Given the description of an element on the screen output the (x, y) to click on. 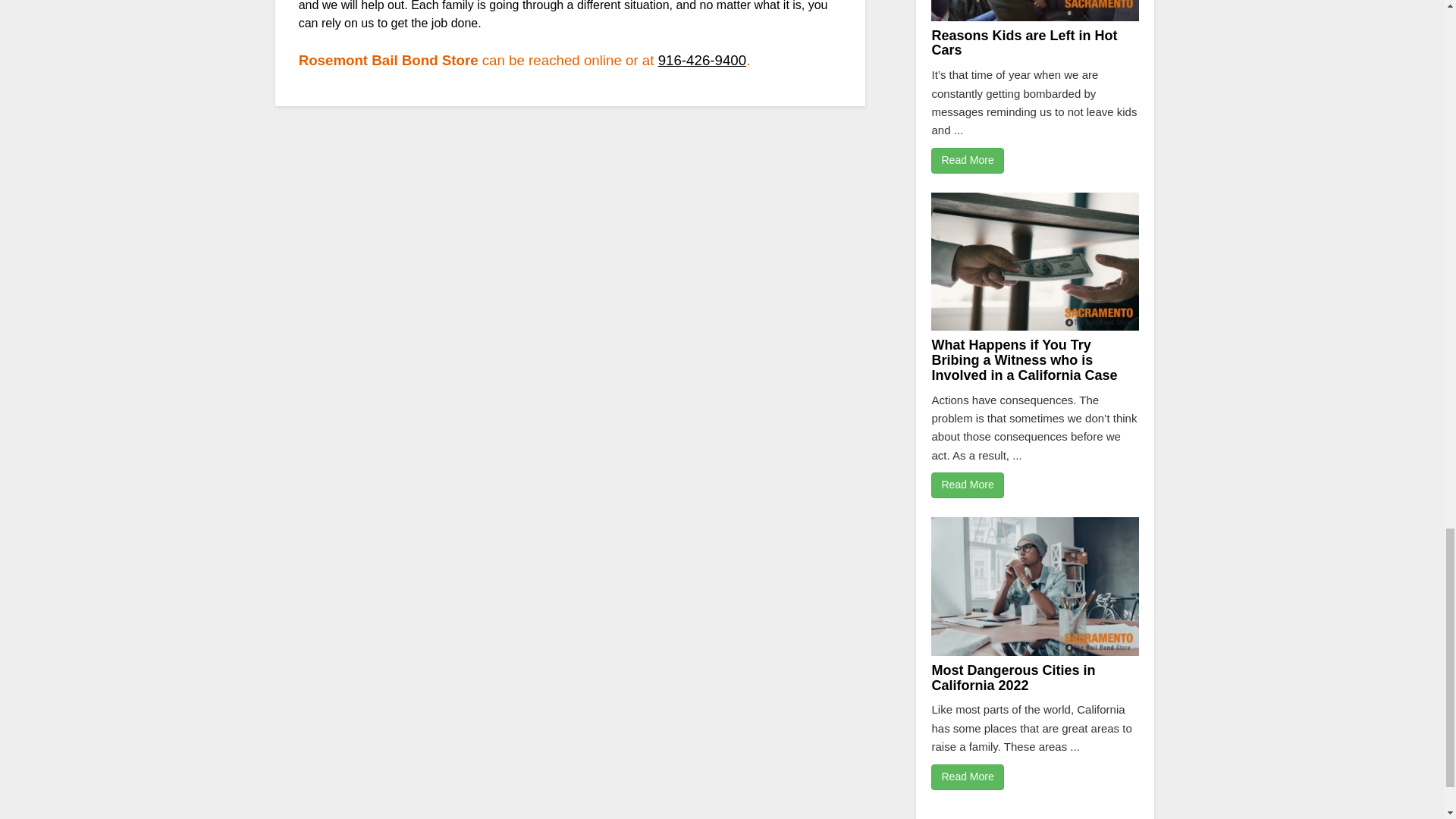
Reasons Kids are Left in Hot Cars (1023, 42)
Read More (967, 484)
Read More (967, 160)
Most Dangerous Cities in California 2022 (1012, 677)
Read More (967, 777)
Rosemont Bail Bond Store (701, 59)
916-426-9400 (701, 59)
